Given the description of an element on the screen output the (x, y) to click on. 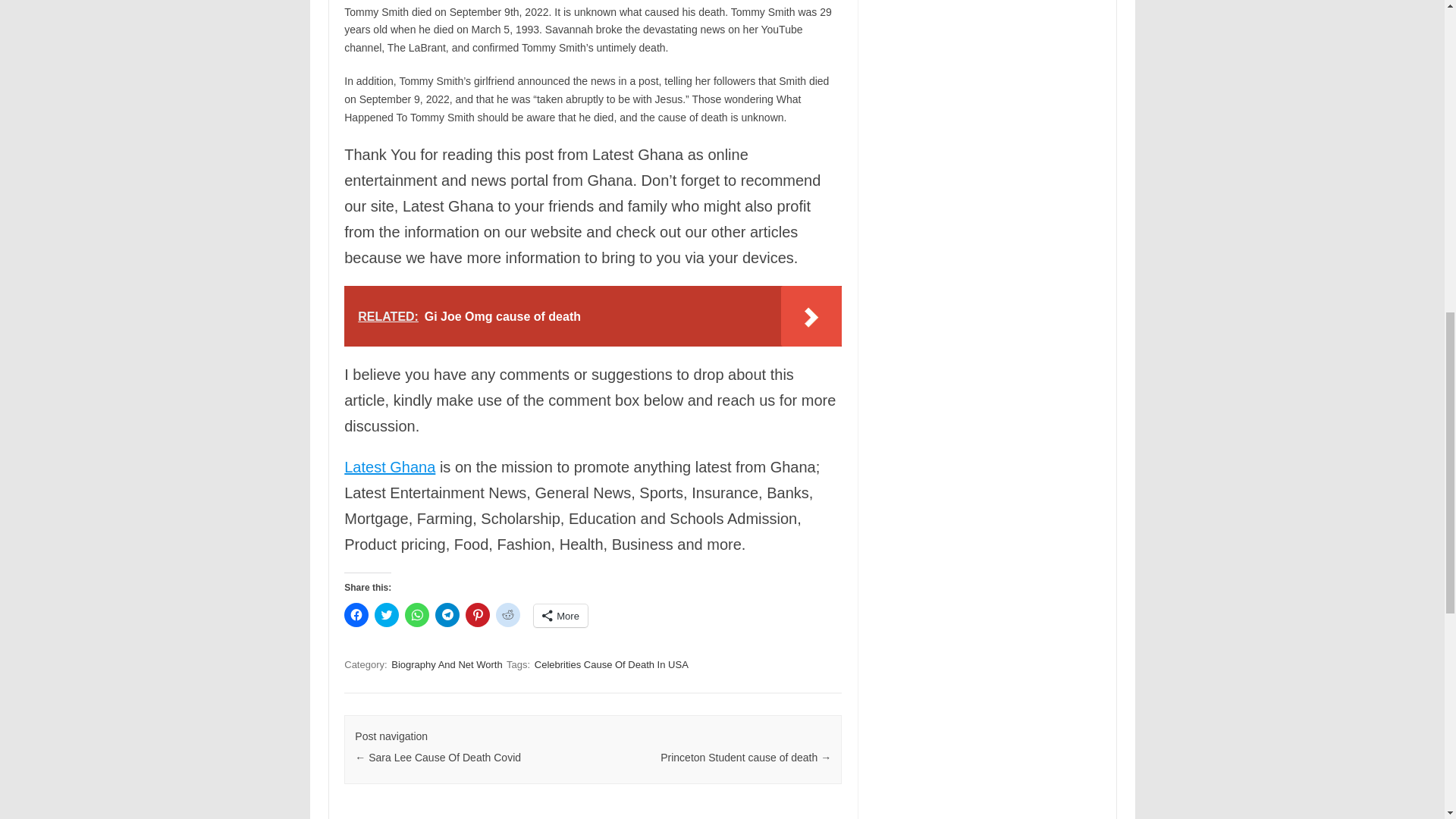
Biography And Net Worth (446, 664)
Click to share on Pinterest (477, 614)
RELATED:  Gi Joe Omg cause of death (592, 315)
Click to share on Twitter (386, 614)
More (561, 615)
Celebrities Cause Of Death In USA (611, 664)
Latest Ghana (389, 466)
Click to share on Telegram (447, 614)
Click to share on Reddit (507, 614)
Click to share on WhatsApp (416, 614)
Click to share on Facebook (355, 614)
